Given the description of an element on the screen output the (x, y) to click on. 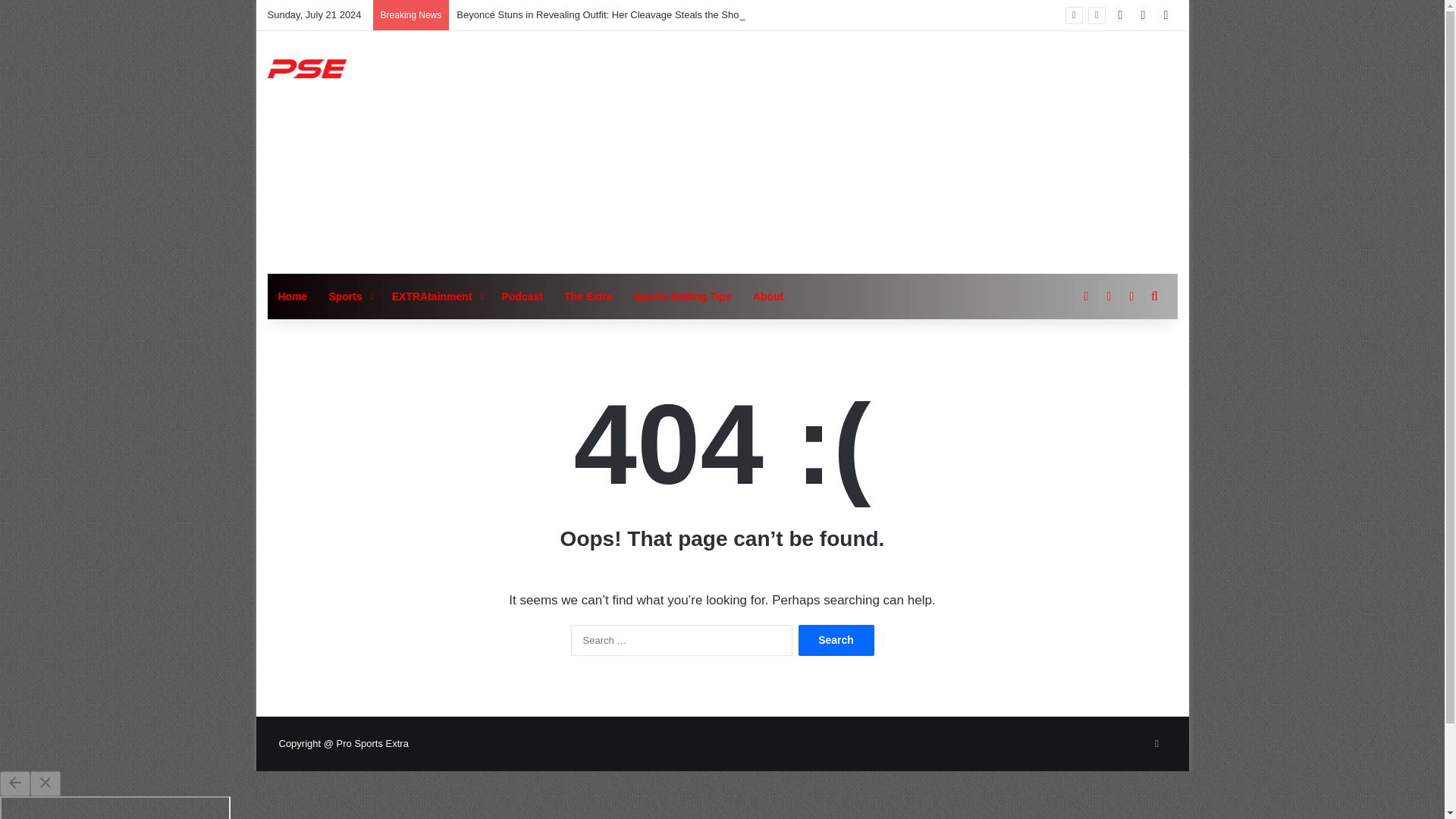
Search (835, 640)
Sports Betting Tips (682, 296)
The Extra (588, 296)
Search (835, 640)
About (767, 296)
Sports (348, 296)
Podcast (522, 296)
Facebook (1157, 743)
Pro Sports Extra (410, 68)
Search (835, 640)
Advertisement (877, 151)
EXTRAtainment (436, 296)
Home (291, 296)
